Given the description of an element on the screen output the (x, y) to click on. 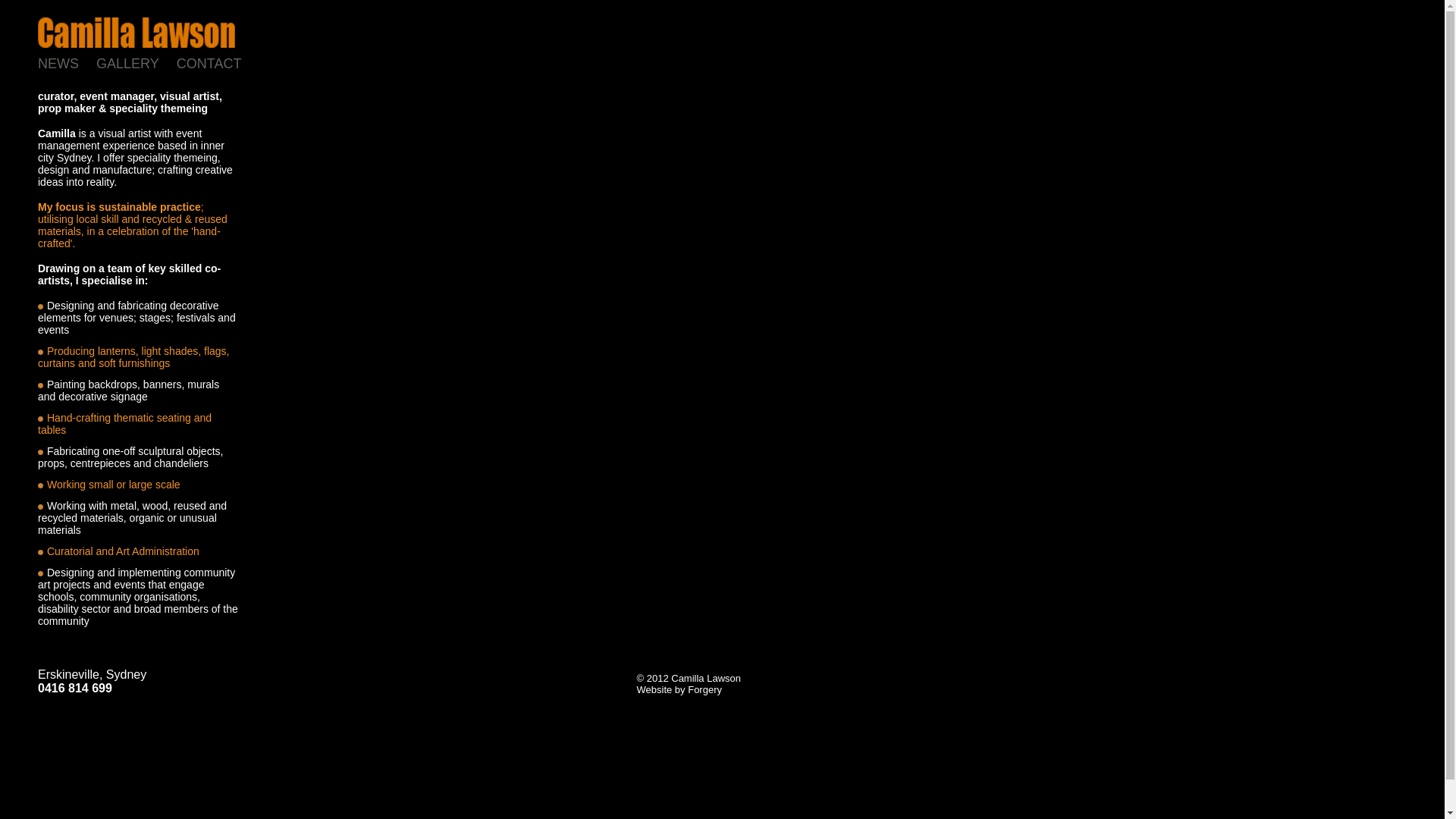
Website by Forgery Element type: text (679, 689)
CONTACT Element type: text (217, 63)
GALLERY Element type: text (136, 63)
NEWS Element type: text (66, 63)
